Given the description of an element on the screen output the (x, y) to click on. 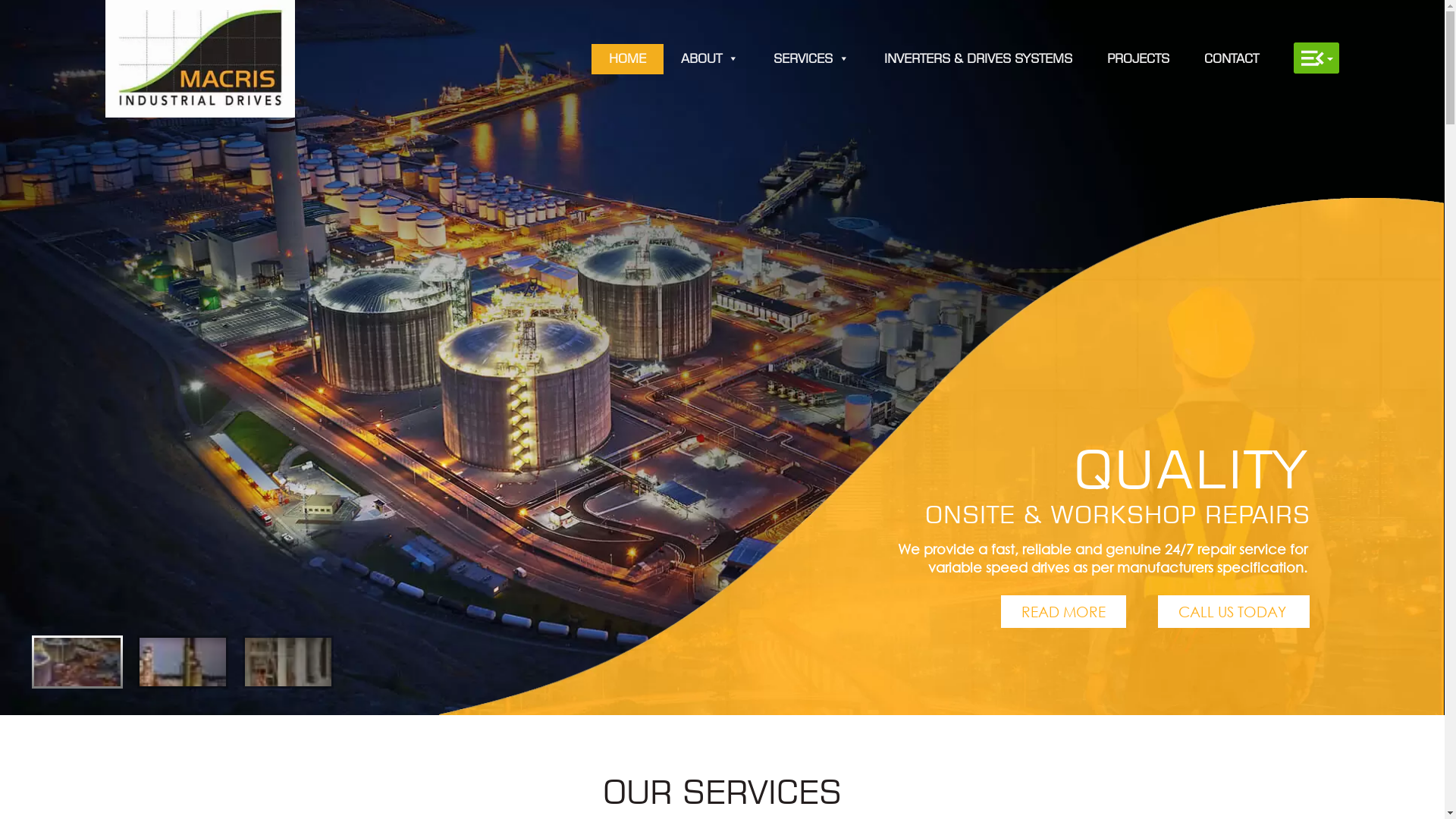
CALL US TODAY Element type: text (1233, 611)
INVERTERS & DRIVES SYSTEMS Element type: text (977, 58)
READ MORE Element type: text (1063, 611)
SERVICES Element type: text (811, 58)
ABOUT Element type: text (709, 58)
HOME Element type: text (627, 58)
CONTACT Element type: text (1231, 58)
PROJECTS Element type: text (1137, 58)
